Given the description of an element on the screen output the (x, y) to click on. 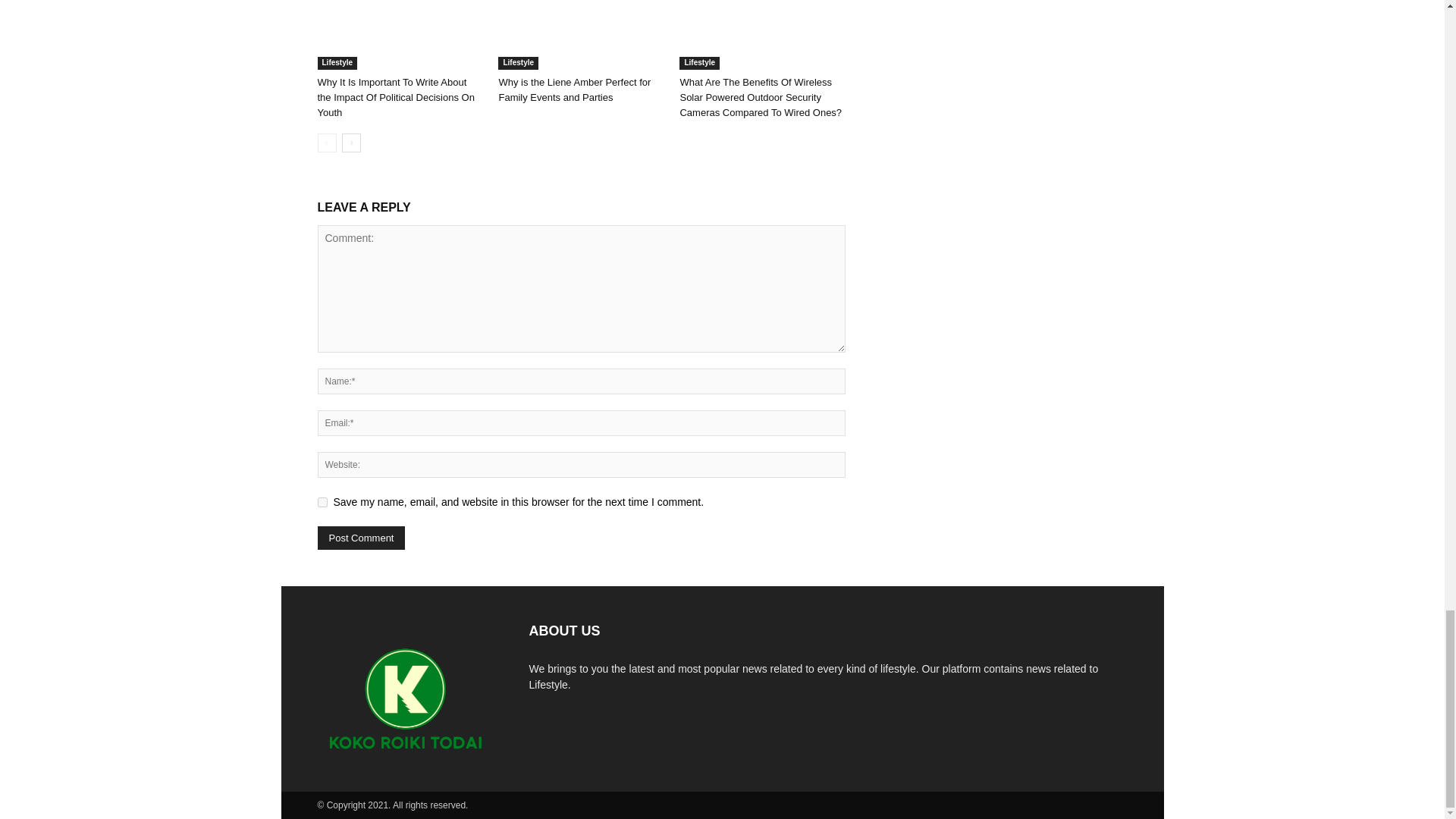
yes (321, 501)
Post Comment (360, 537)
